Given the description of an element on the screen output the (x, y) to click on. 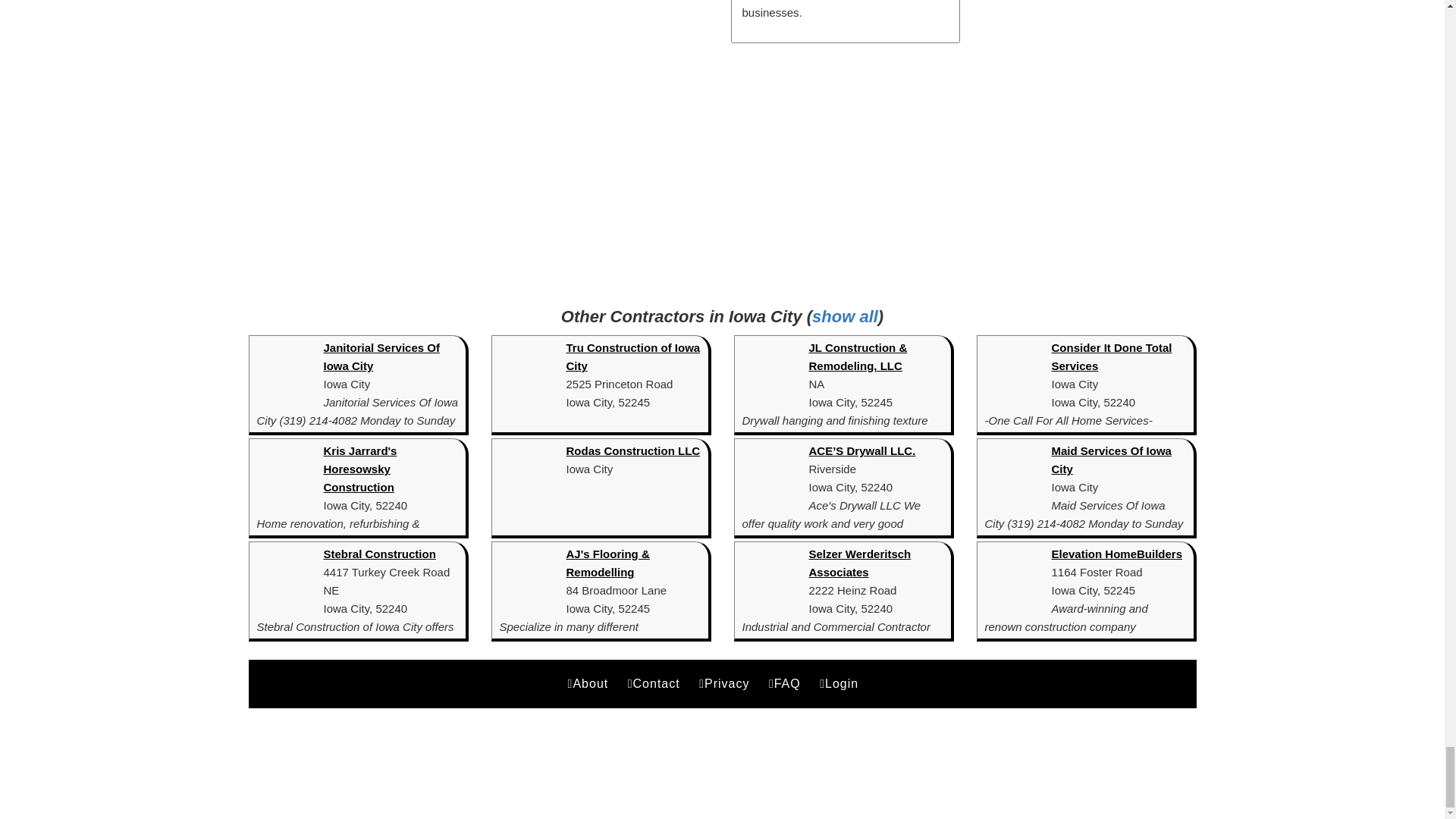
Kris Jarrard's Horesowsky Construction (359, 468)
show all (844, 316)
Tru Construction of Iowa City (633, 356)
Janitorial Services Of Iowa City (381, 356)
Rodas Construction LLC (633, 450)
Consider It Done Total Services (1111, 356)
